Given the description of an element on the screen output the (x, y) to click on. 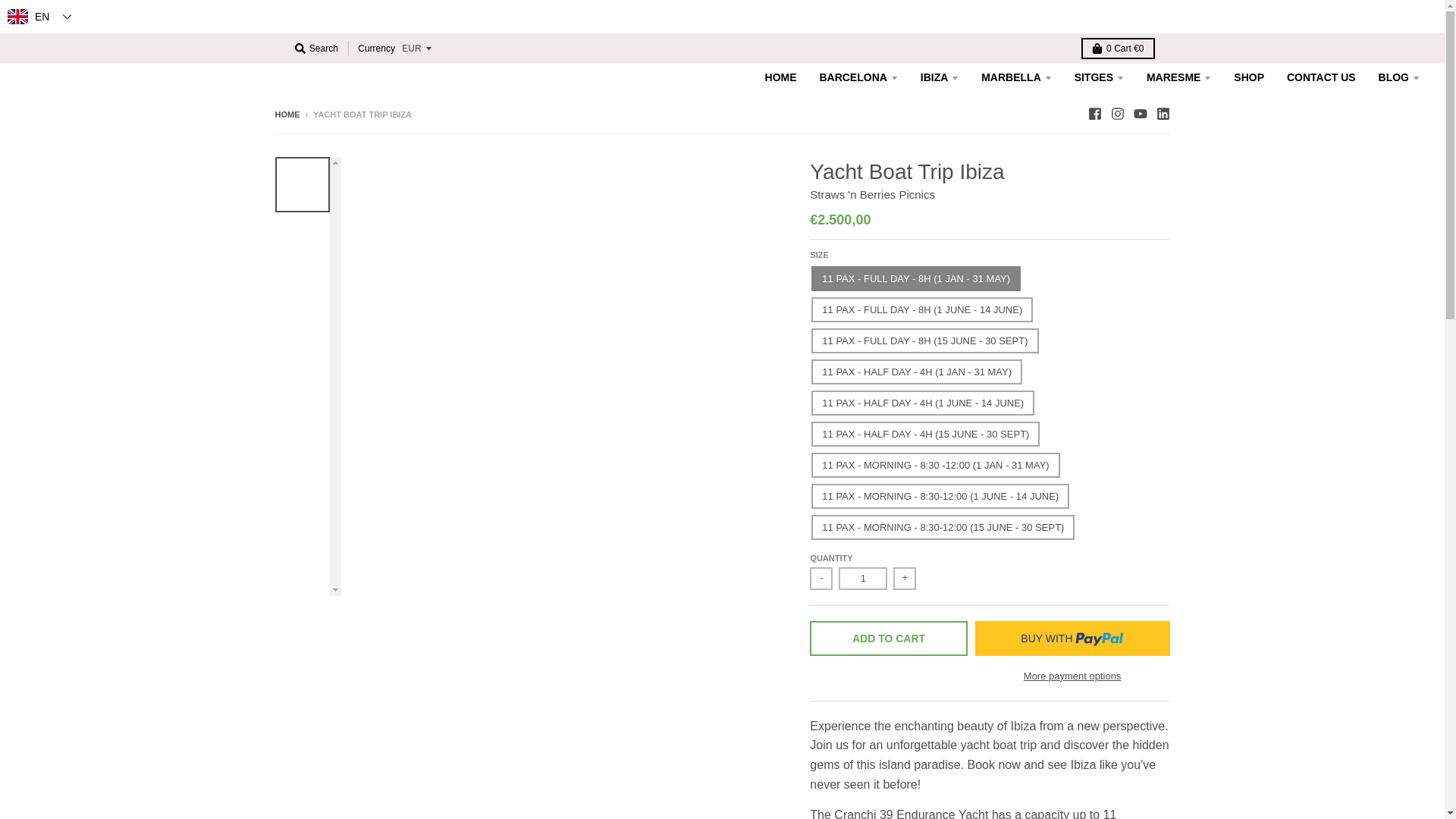
YouTube - Straws 'n Berries Picnics (1139, 113)
MARBELLA (1016, 76)
1 (862, 578)
Back to the frontpage (287, 113)
HOME (780, 76)
SITGES (1099, 76)
Instagram - Straws 'n Berries Picnics (1116, 113)
Search (315, 47)
Facebook - Straws 'n Berries Picnics (1093, 113)
LinkedIn - Straws 'n Berries Picnics (1162, 113)
IBIZA (940, 76)
Straws 'n Berries Picnics (871, 194)
BARCELONA (858, 76)
